Given the description of an element on the screen output the (x, y) to click on. 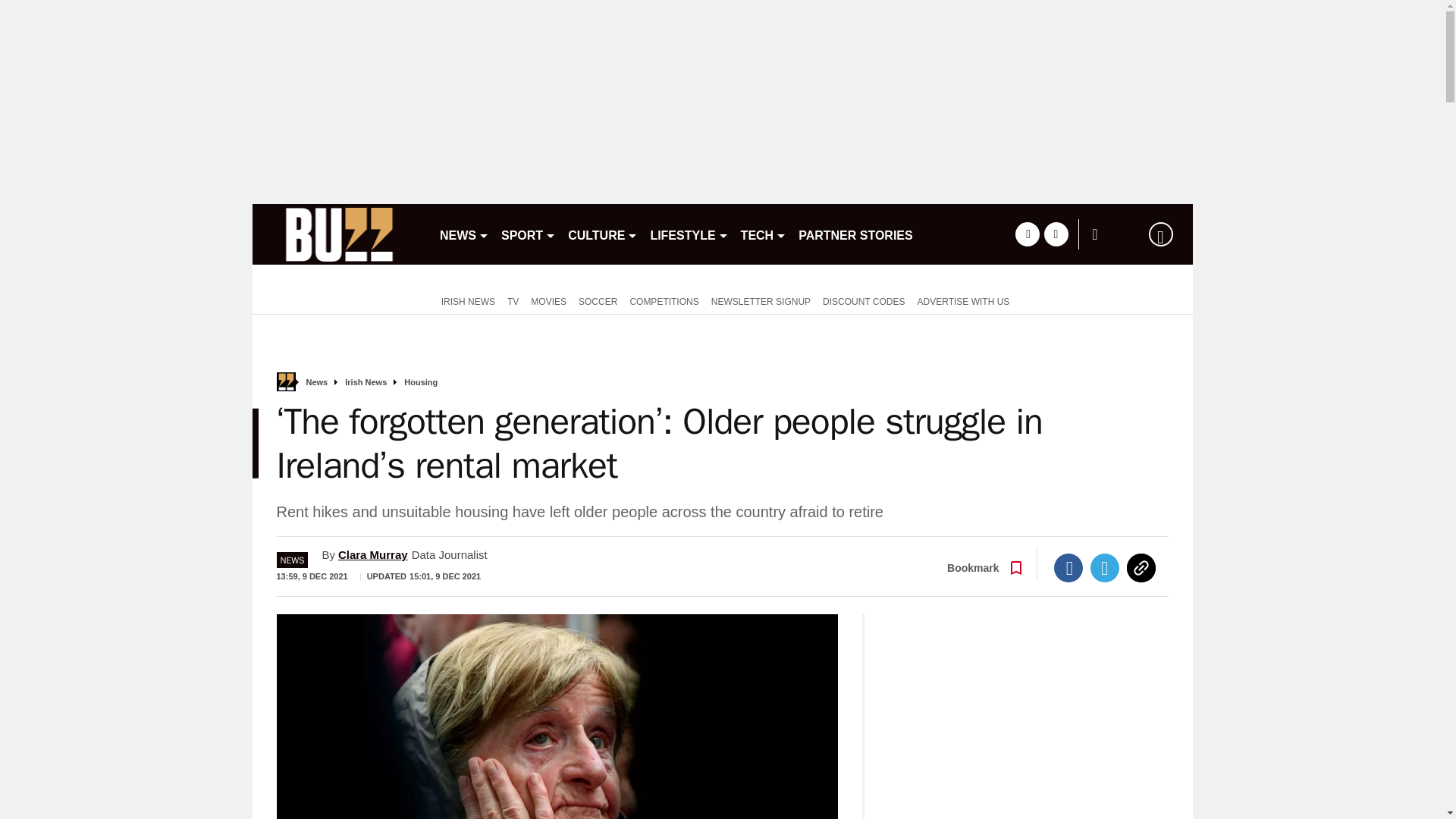
buzz (338, 233)
LIFESTYLE (688, 233)
Facebook (1068, 567)
SPORT (528, 233)
CULTURE (602, 233)
twitter (1055, 233)
TECH (764, 233)
facebook (1026, 233)
PARTNER STORIES (855, 233)
Twitter (1104, 567)
NEWS (464, 233)
